Given the description of an element on the screen output the (x, y) to click on. 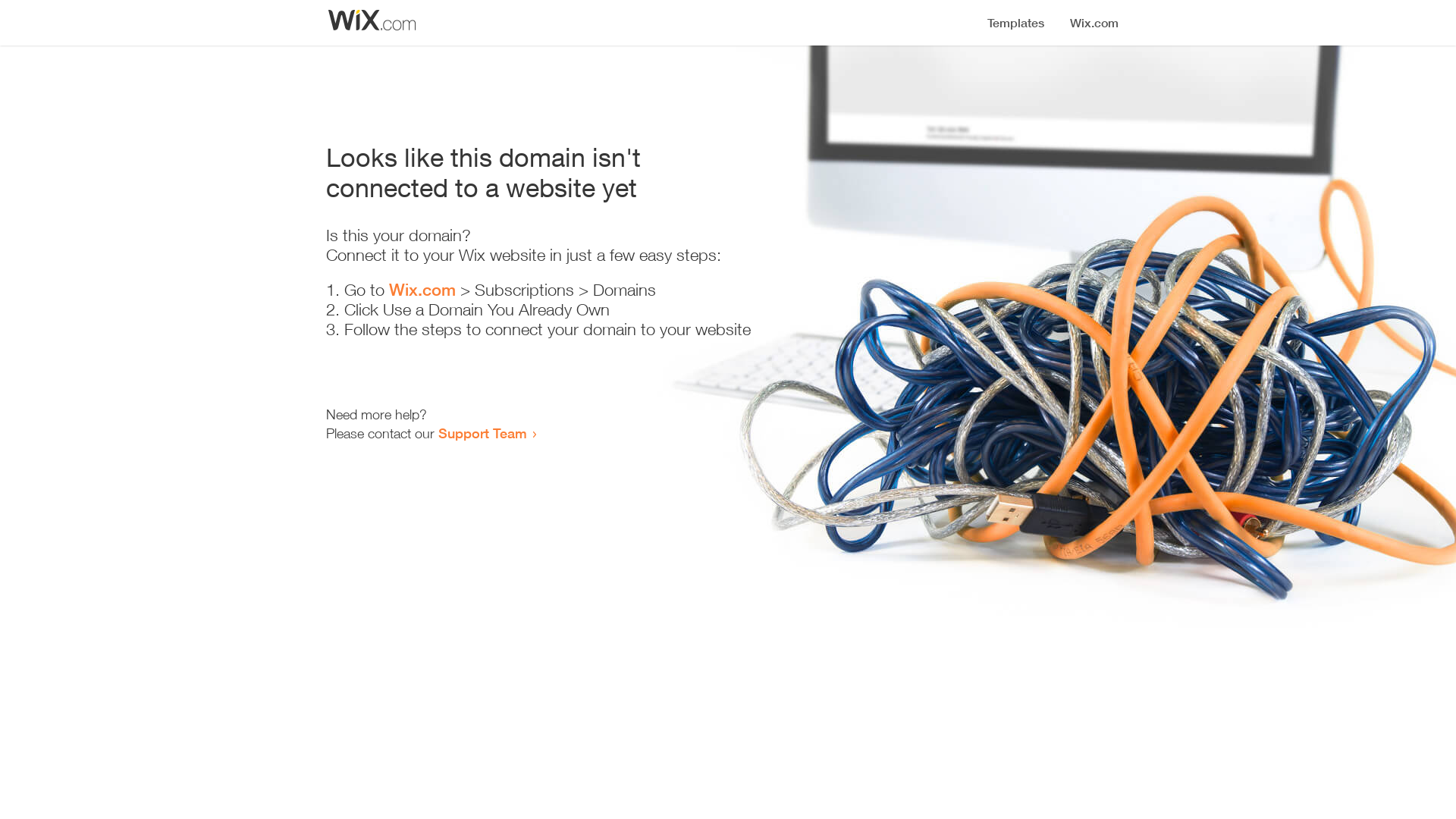
Wix.com Element type: text (422, 289)
Support Team Element type: text (482, 432)
